Given the description of an element on the screen output the (x, y) to click on. 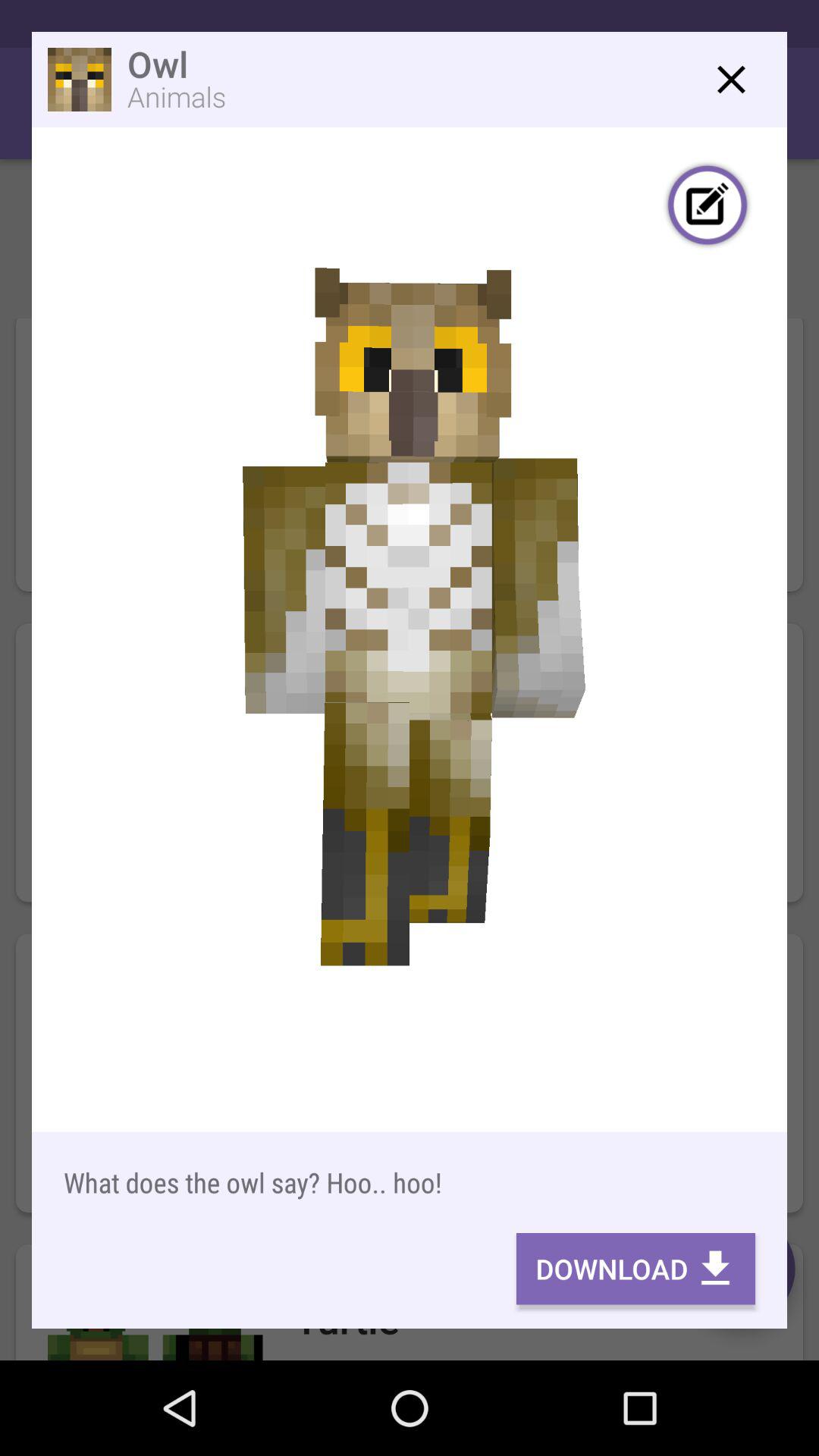
close window (731, 79)
